Given the description of an element on the screen output the (x, y) to click on. 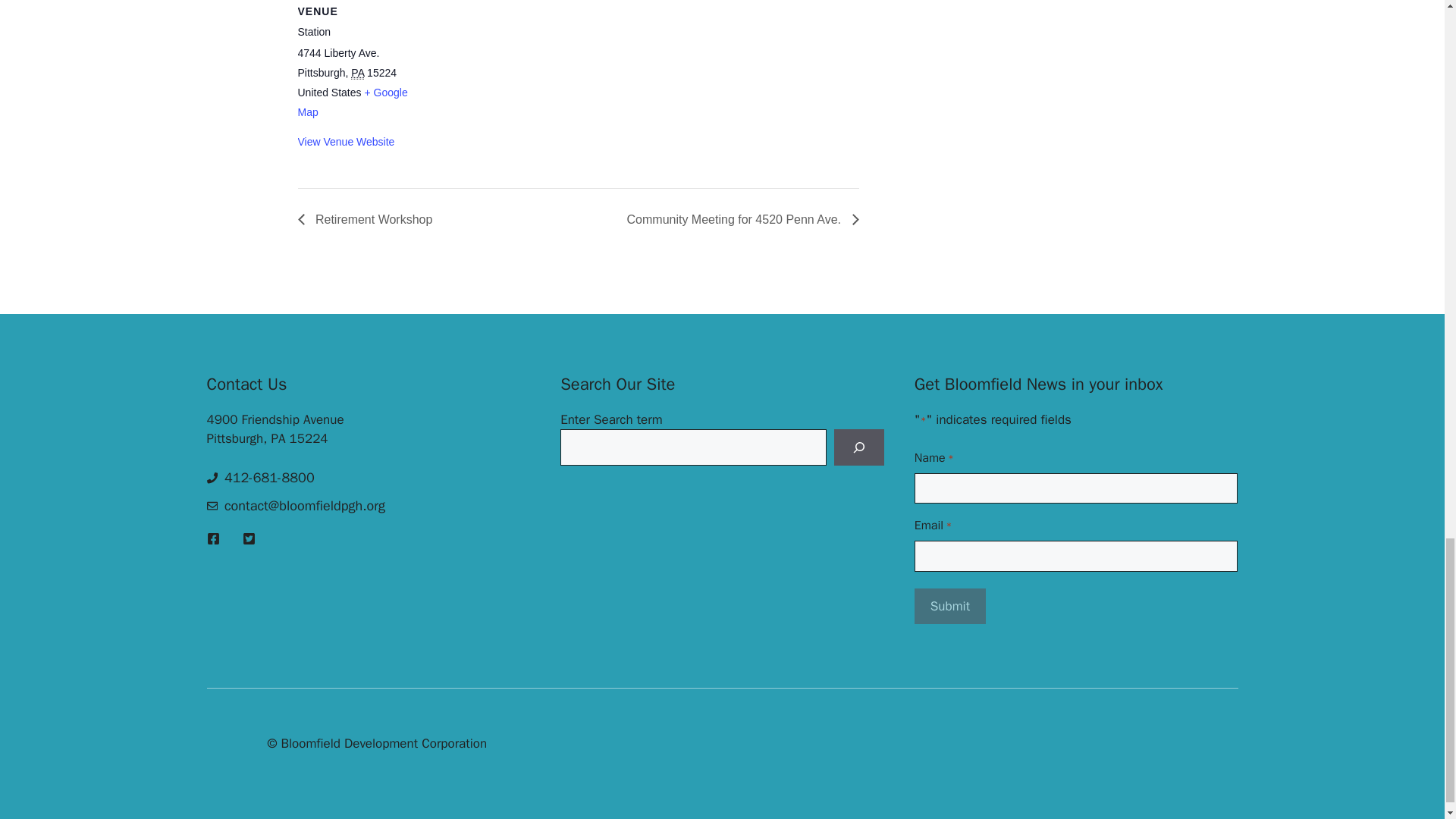
Click to view a Google Map (352, 101)
Submit (949, 606)
Google maps iframe displaying the address to Station (522, 84)
Pennsylvania (357, 72)
